Given the description of an element on the screen output the (x, y) to click on. 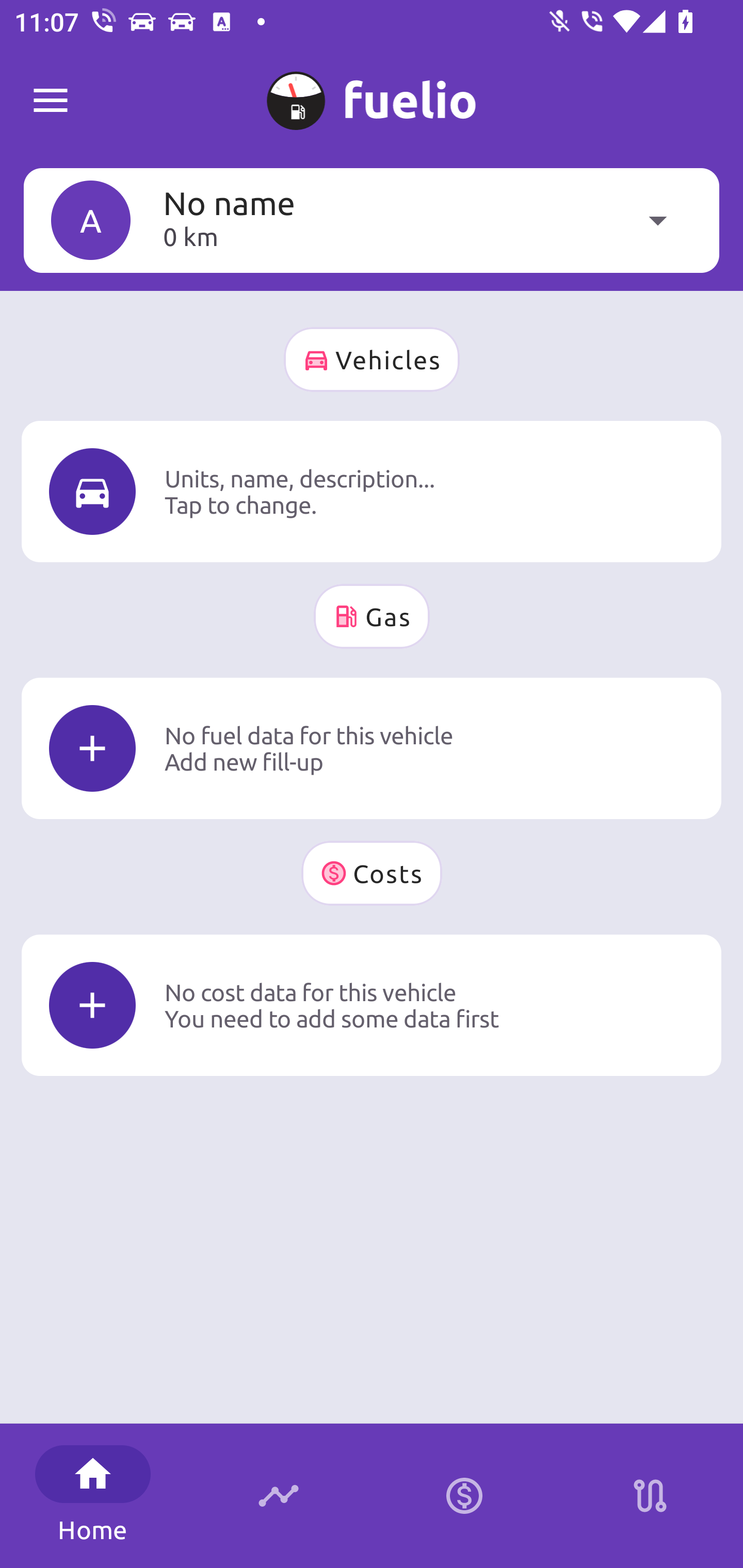
Fuelio (50, 101)
A No name 0 km (371, 219)
Vehicles (371, 359)
Icon Units, name, description...
Tap to change. (371, 491)
Icon (92, 491)
Gas (371, 616)
Icon No fuel data for this vehicle
Add new fill-up (371, 747)
Icon (92, 748)
Costs (371, 873)
Icon (92, 1004)
Timeline (278, 1495)
Calculator (464, 1495)
Stations on route (650, 1495)
